Given the description of an element on the screen output the (x, y) to click on. 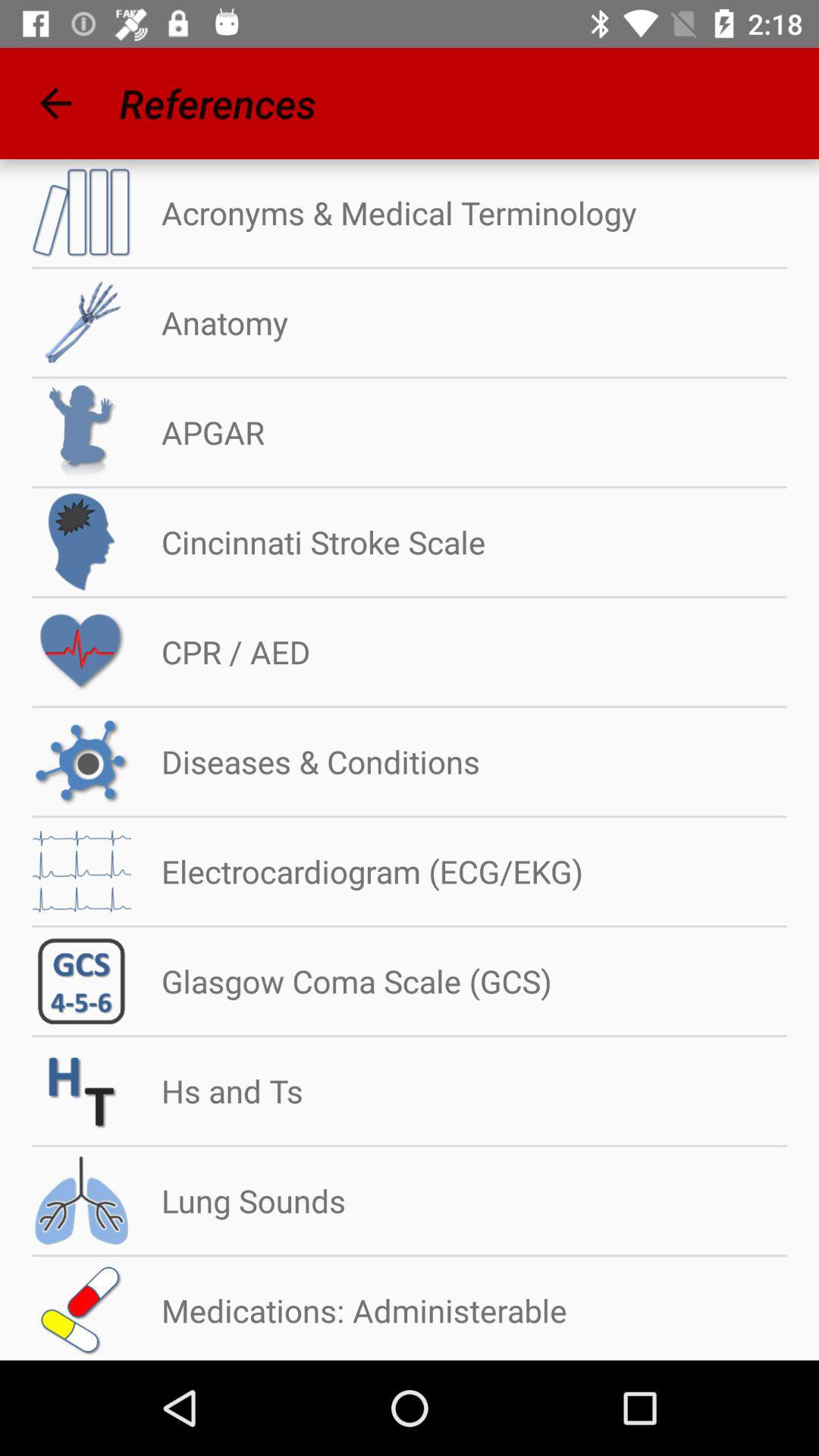
open the anatomy icon (209, 322)
